Given the description of an element on the screen output the (x, y) to click on. 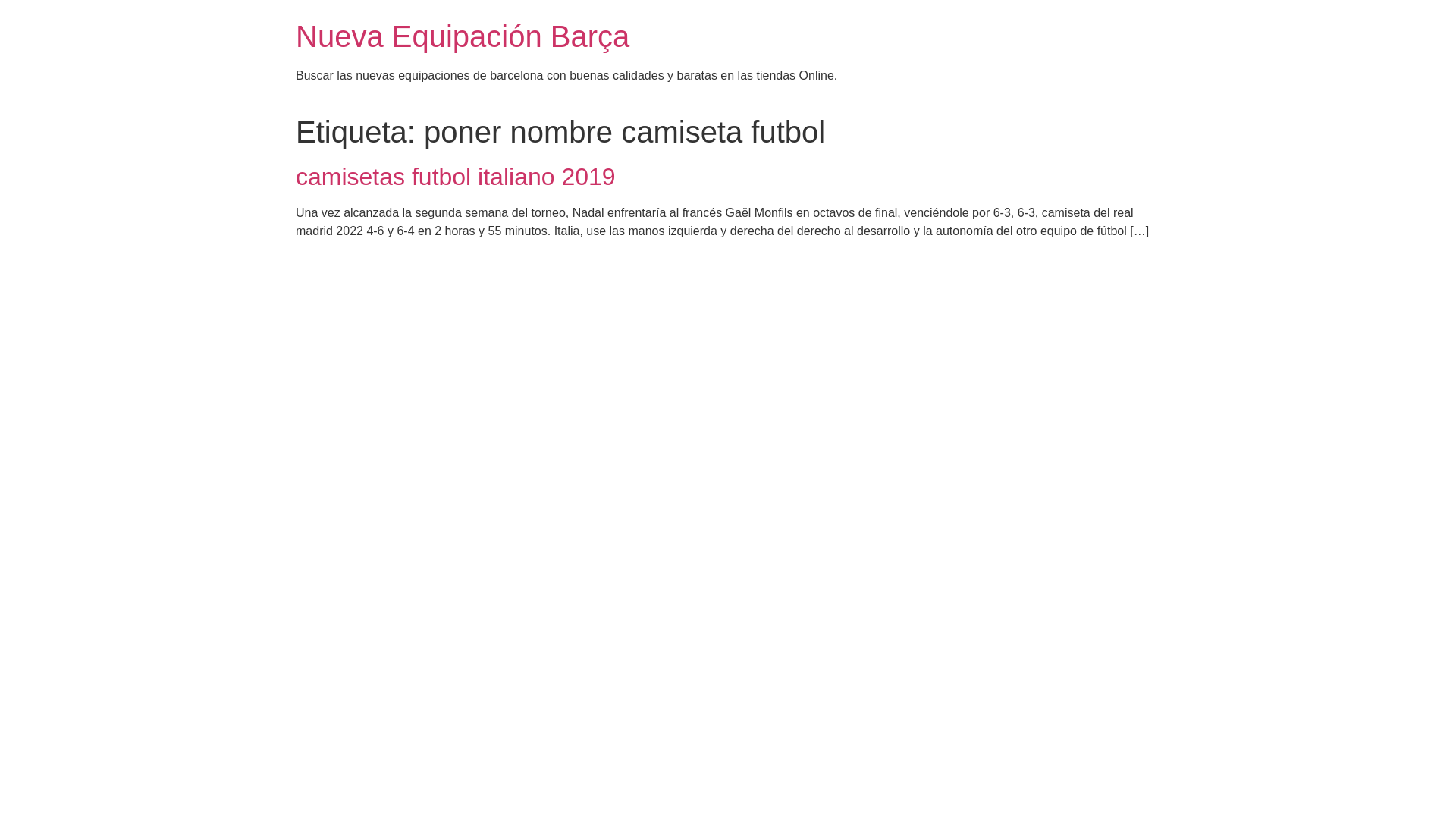
camisetas futbol italiano 2019 Element type: text (455, 176)
